Given the description of an element on the screen output the (x, y) to click on. 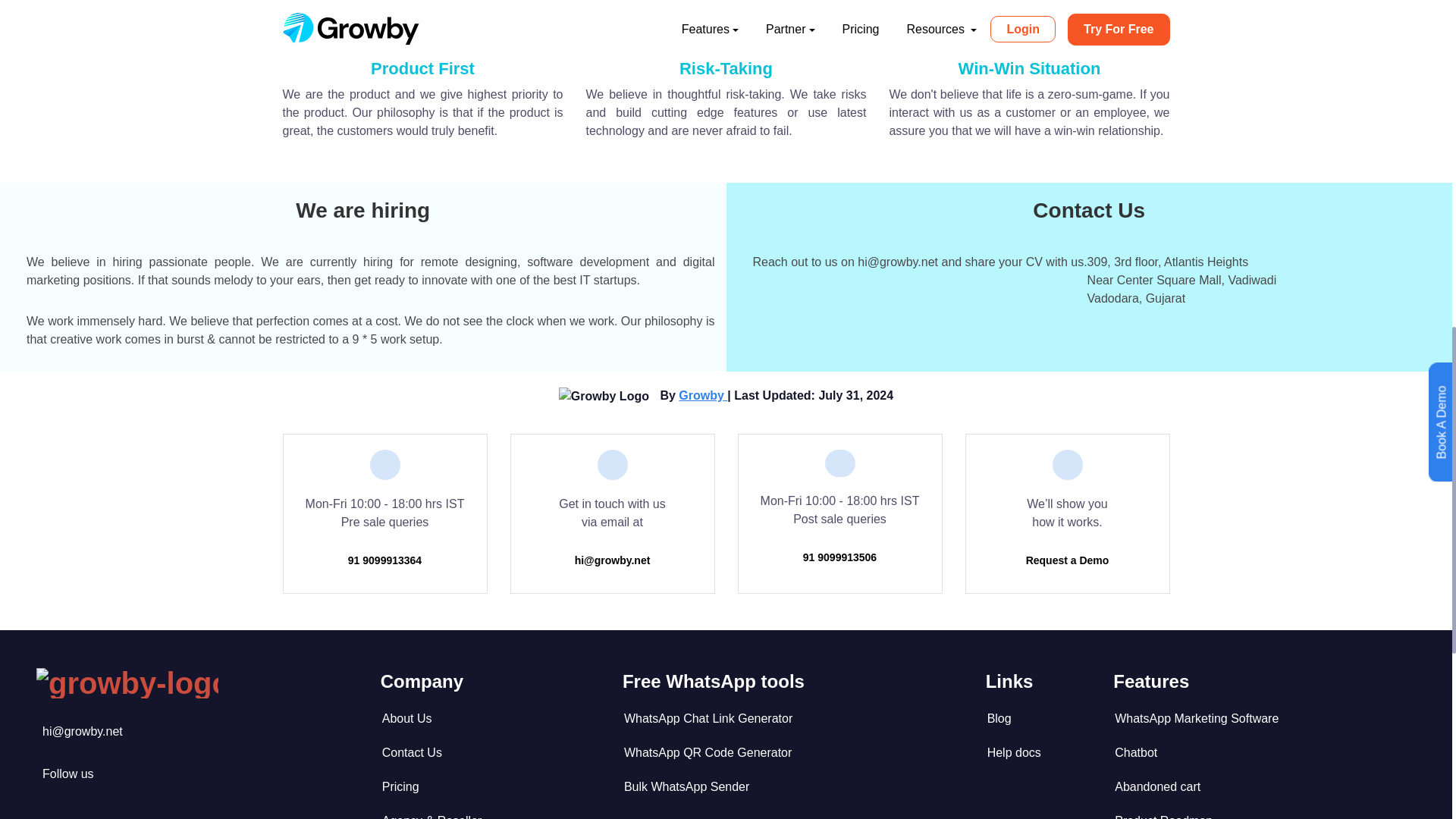
Growby YouTube (68, 773)
Growby YouTube (82, 730)
91 9099913364 (384, 560)
Growby (702, 395)
